Given the description of an element on the screen output the (x, y) to click on. 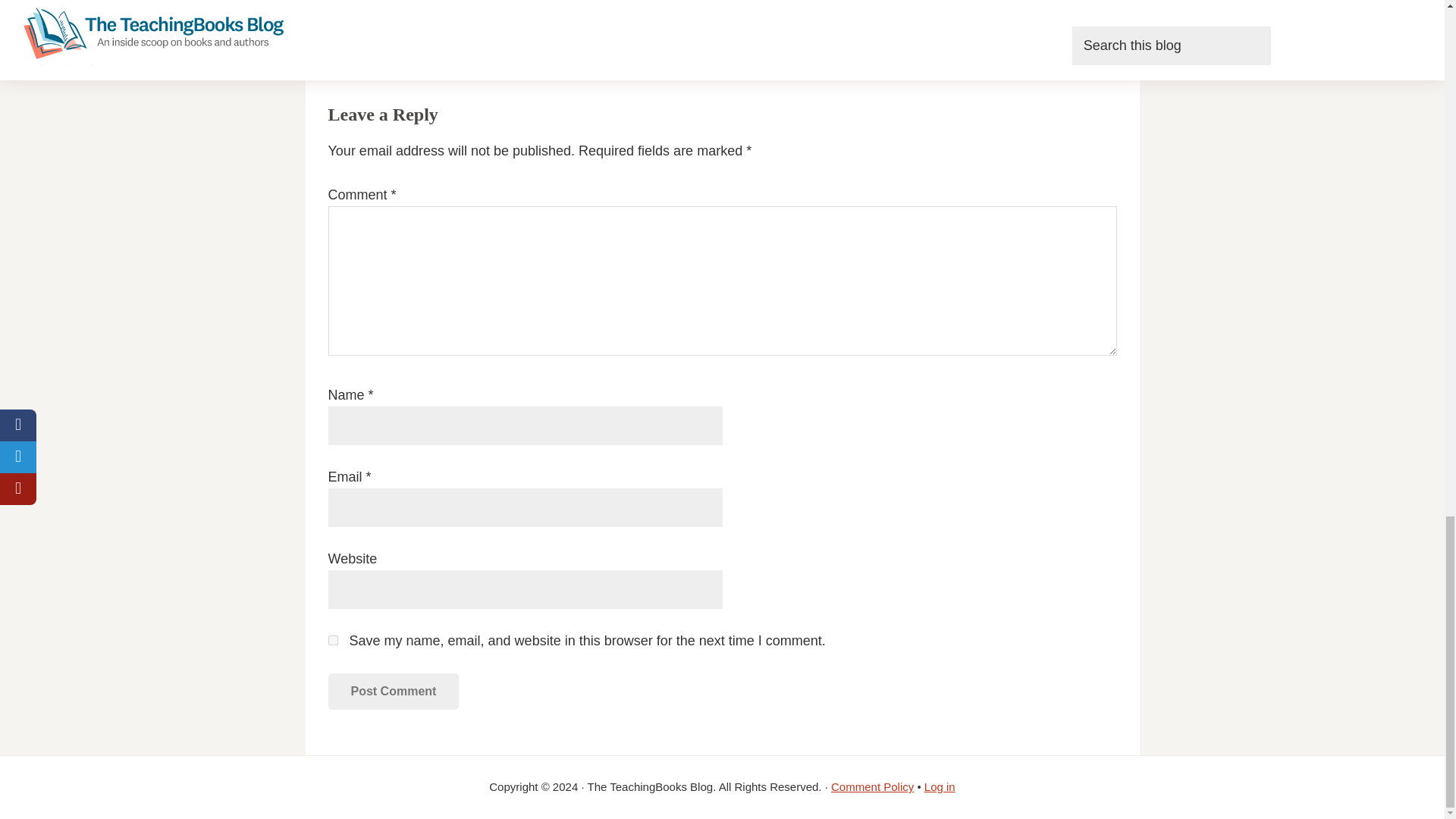
Log in (939, 786)
Post Comment (392, 691)
Post Comment (392, 691)
yes (332, 640)
Comment Policy (872, 786)
